Given the description of an element on the screen output the (x, y) to click on. 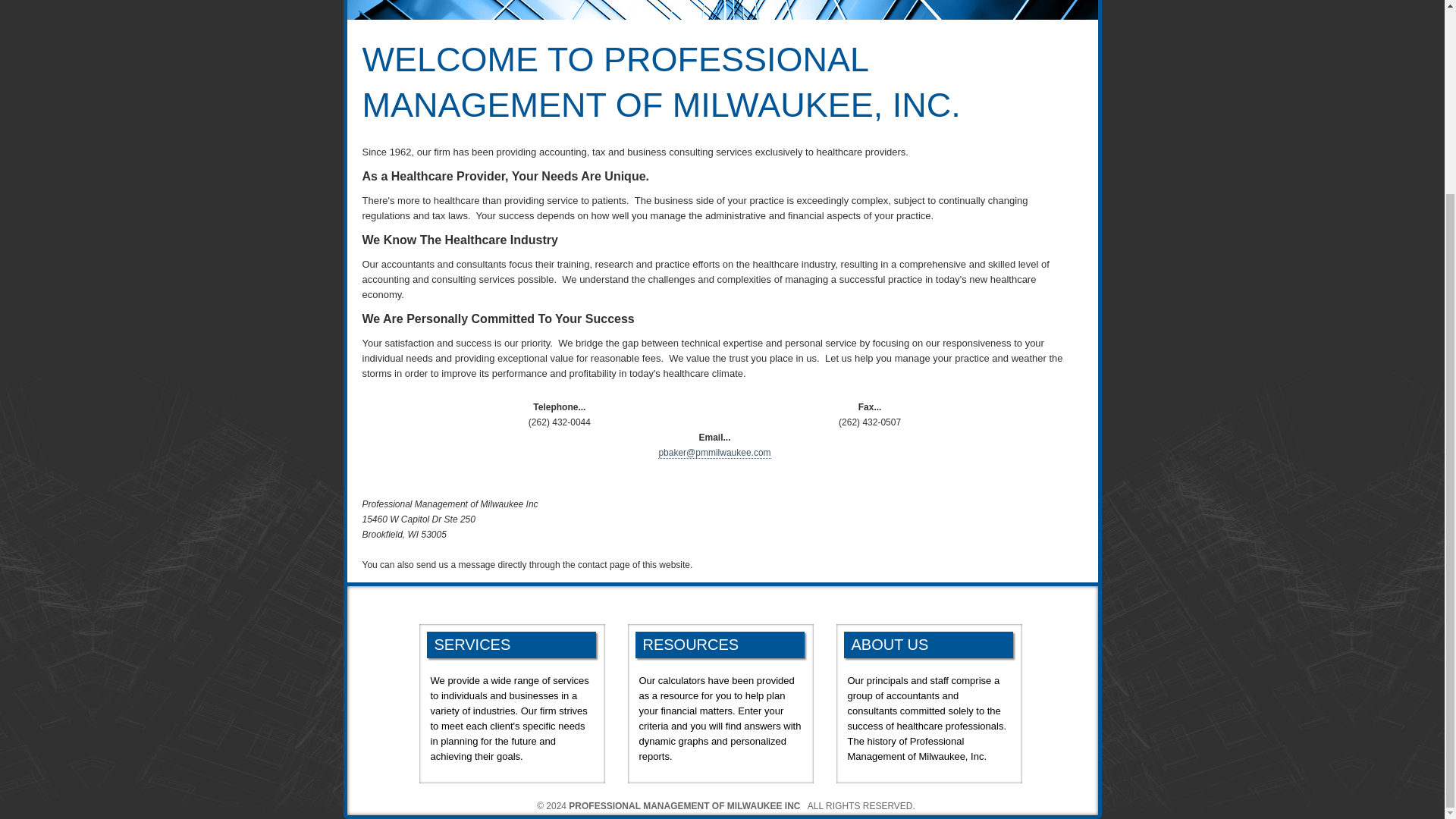
RESOURCES (719, 644)
ABOUT US (927, 644)
SERVICES (510, 644)
